Given the description of an element on the screen output the (x, y) to click on. 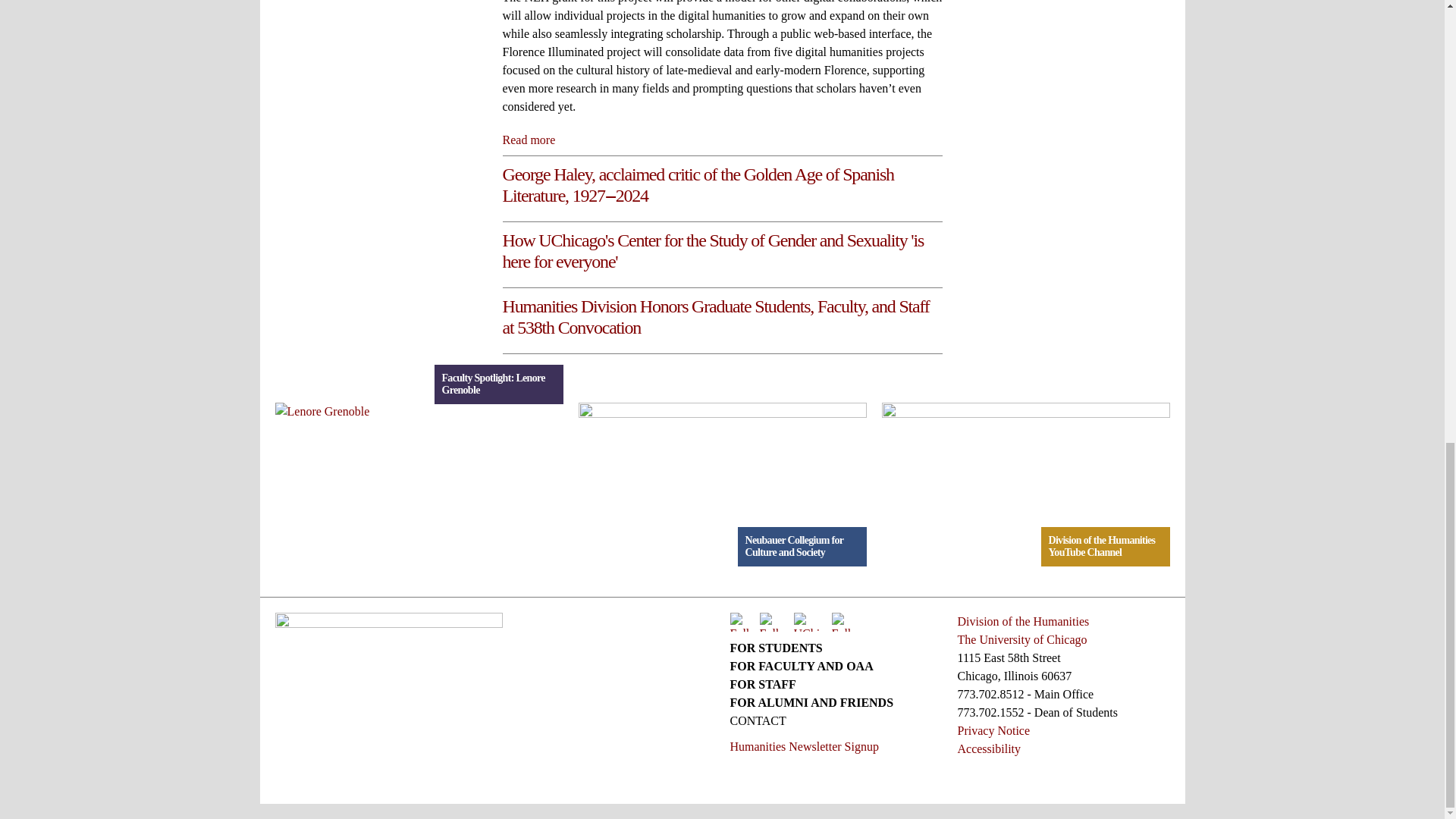
Florence Illuminated project to receive generous NEH grant (528, 139)
